Given the description of an element on the screen output the (x, y) to click on. 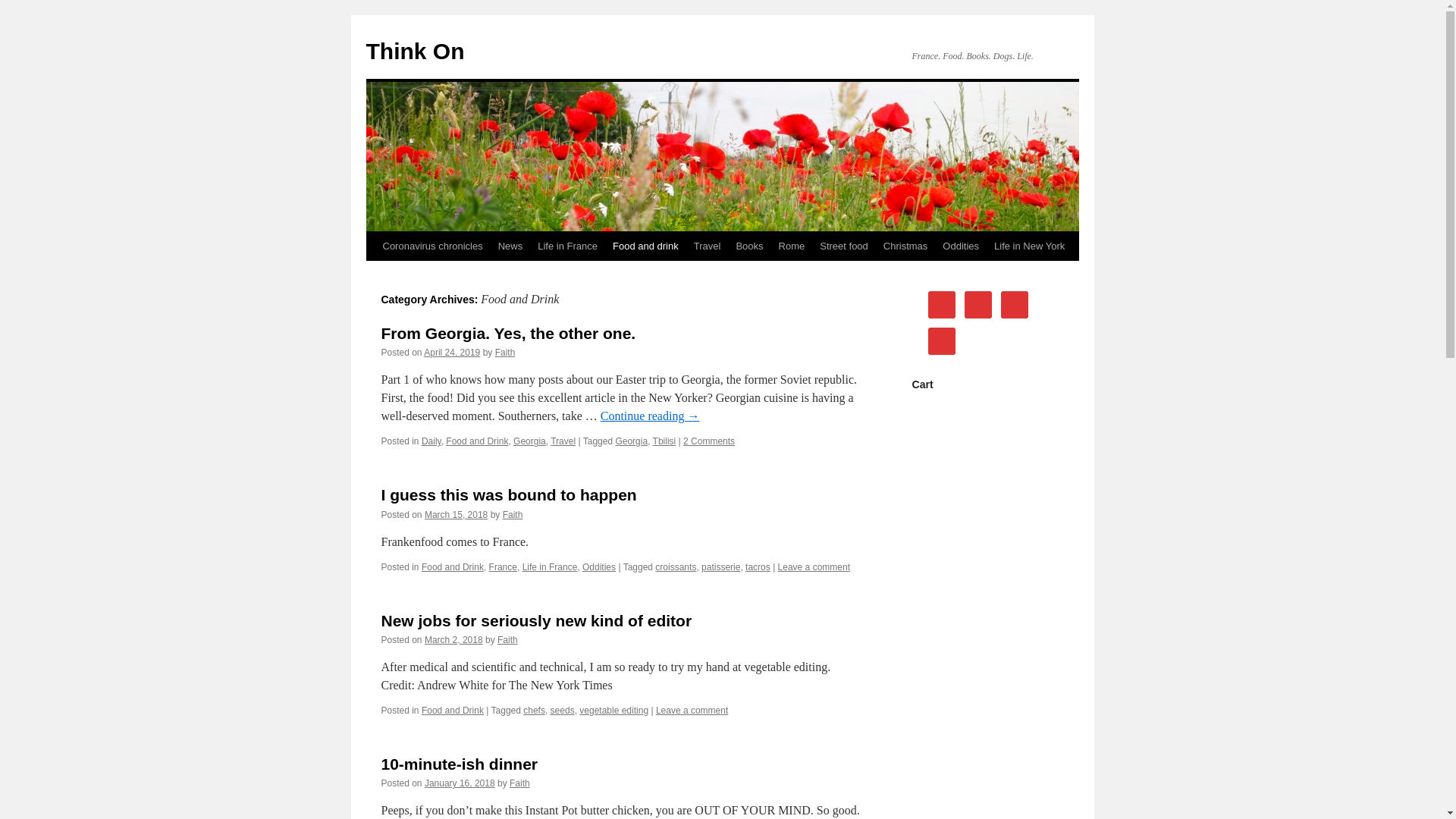
6:30 pm (454, 639)
Christmas (906, 246)
Travel (562, 440)
2 Comments (708, 440)
March 15, 2018 (456, 514)
Food and Drink (452, 710)
Street food (844, 246)
Faith (512, 514)
April 24, 2019 (451, 352)
View all posts by Faith (507, 639)
Daily (431, 440)
Travel (707, 246)
Leave a comment (813, 566)
tacros (757, 566)
Faith (505, 352)
